Given the description of an element on the screen output the (x, y) to click on. 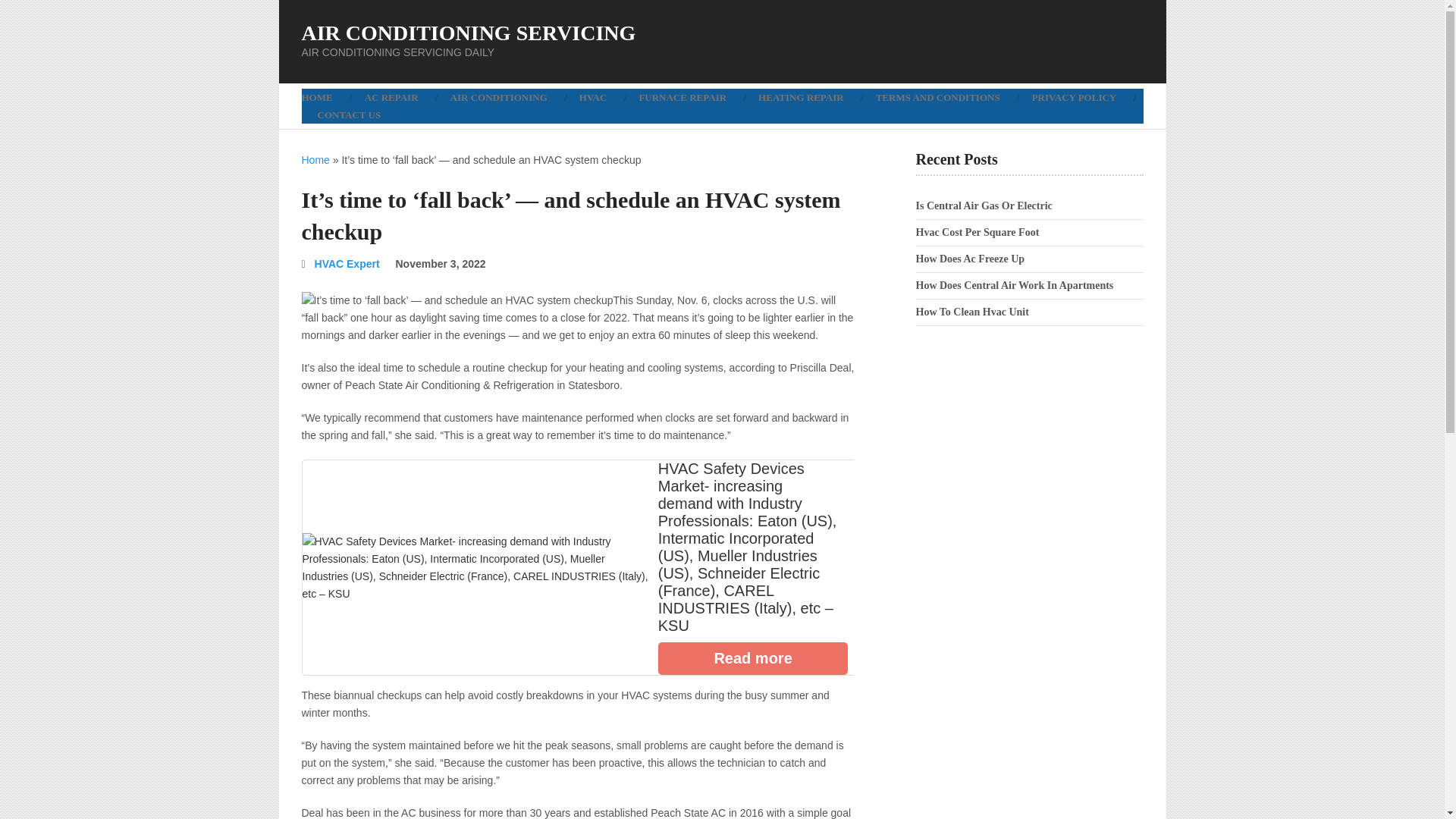
HVAC (593, 97)
TERMS AND CONDITIONS (938, 97)
How Does Ac Freeze Up (970, 258)
AIR CONDITIONING (498, 97)
Home (315, 159)
Hvac Cost Per Square Foot (977, 232)
AIR CONDITIONING SERVICING (468, 33)
PRIVACY POLICY (1074, 97)
HOME (325, 97)
AC REPAIR (391, 97)
